Given the description of an element on the screen output the (x, y) to click on. 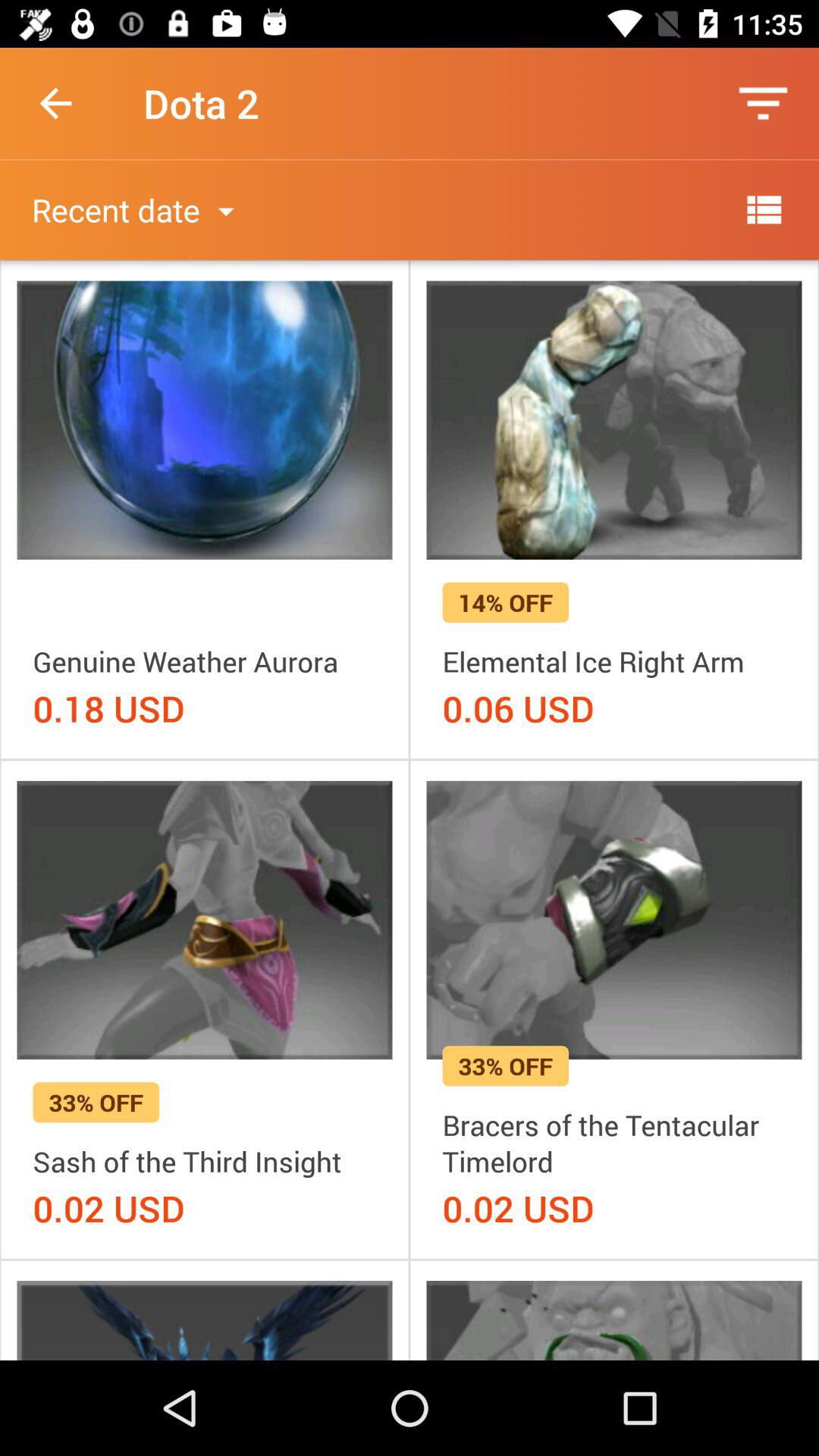
organize options in list (763, 209)
